Given the description of an element on the screen output the (x, y) to click on. 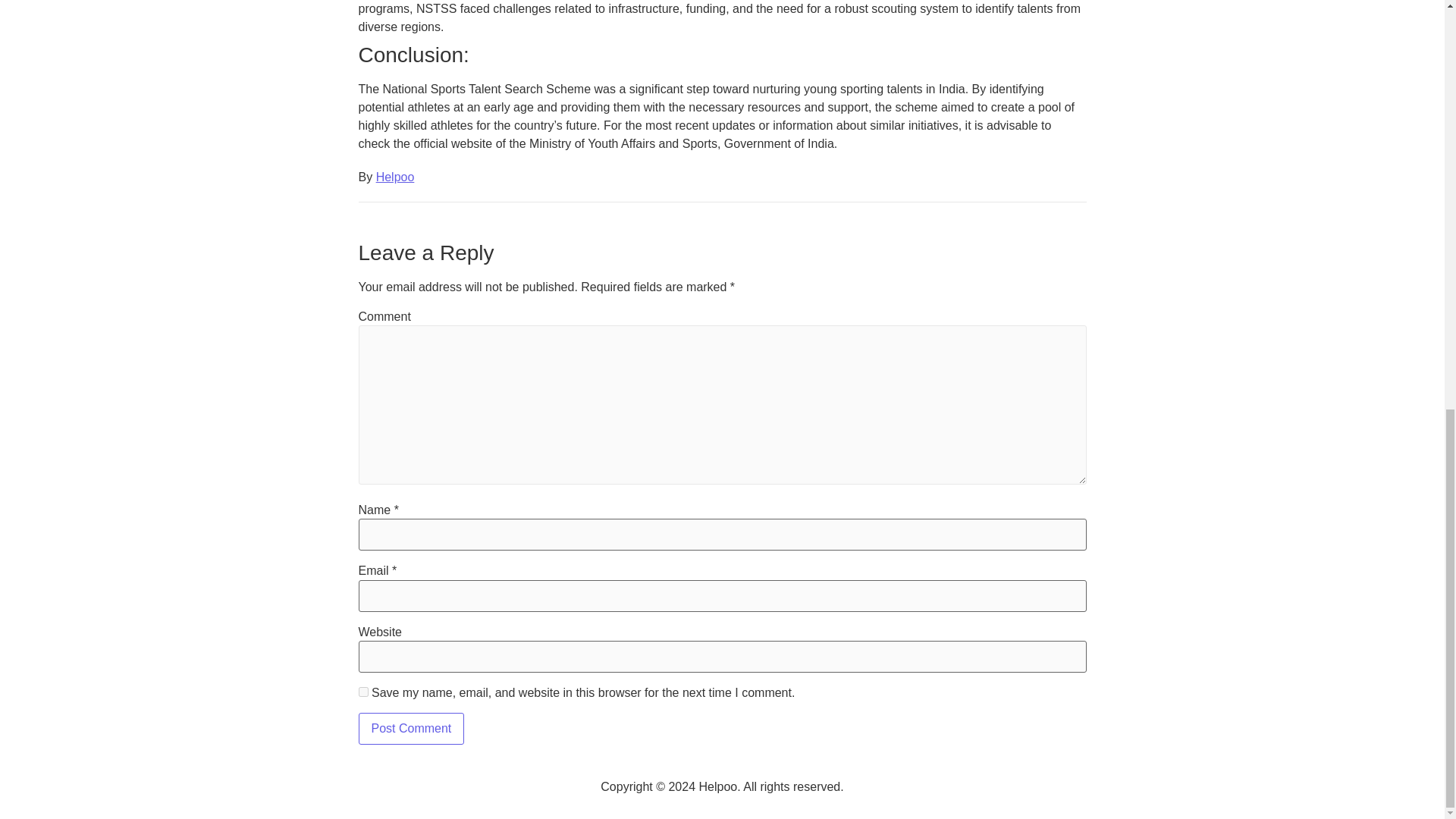
yes (363, 691)
Posts by Helpoo (394, 176)
Helpoo (394, 176)
Post Comment (411, 728)
Post Comment (411, 728)
